Given the description of an element on the screen output the (x, y) to click on. 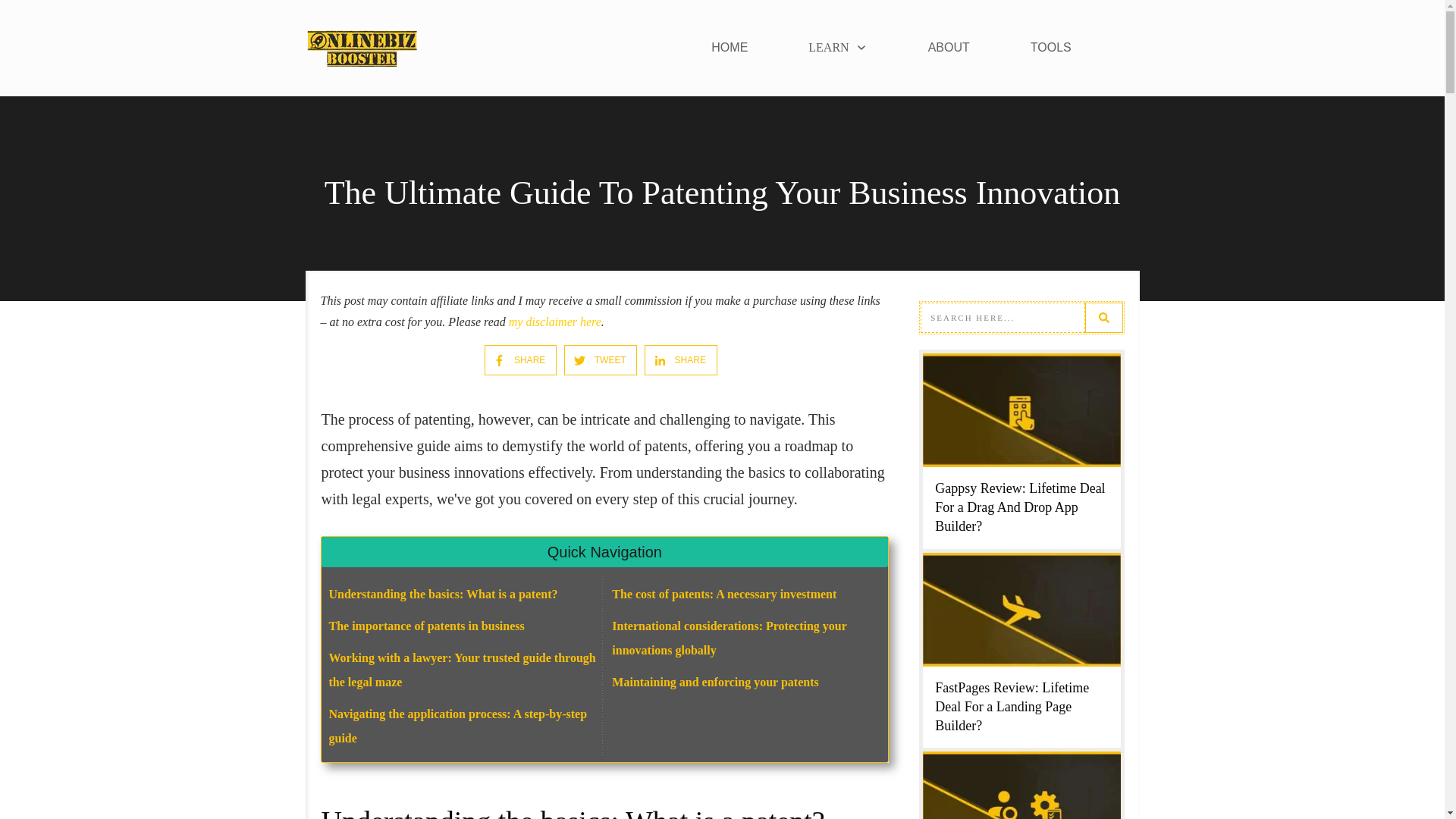
FastPages Review: Lifetime Deal For a Landing Page Builder? (1011, 706)
ABOUT (948, 47)
Maintaining and enforcing your patents (714, 681)
The importance of patents in business (426, 625)
Navigating the application process: A step-by-step guide (458, 725)
Understanding the basics: What is a patent? (443, 594)
TOOLS (1050, 47)
SHARE (513, 359)
